Given the description of an element on the screen output the (x, y) to click on. 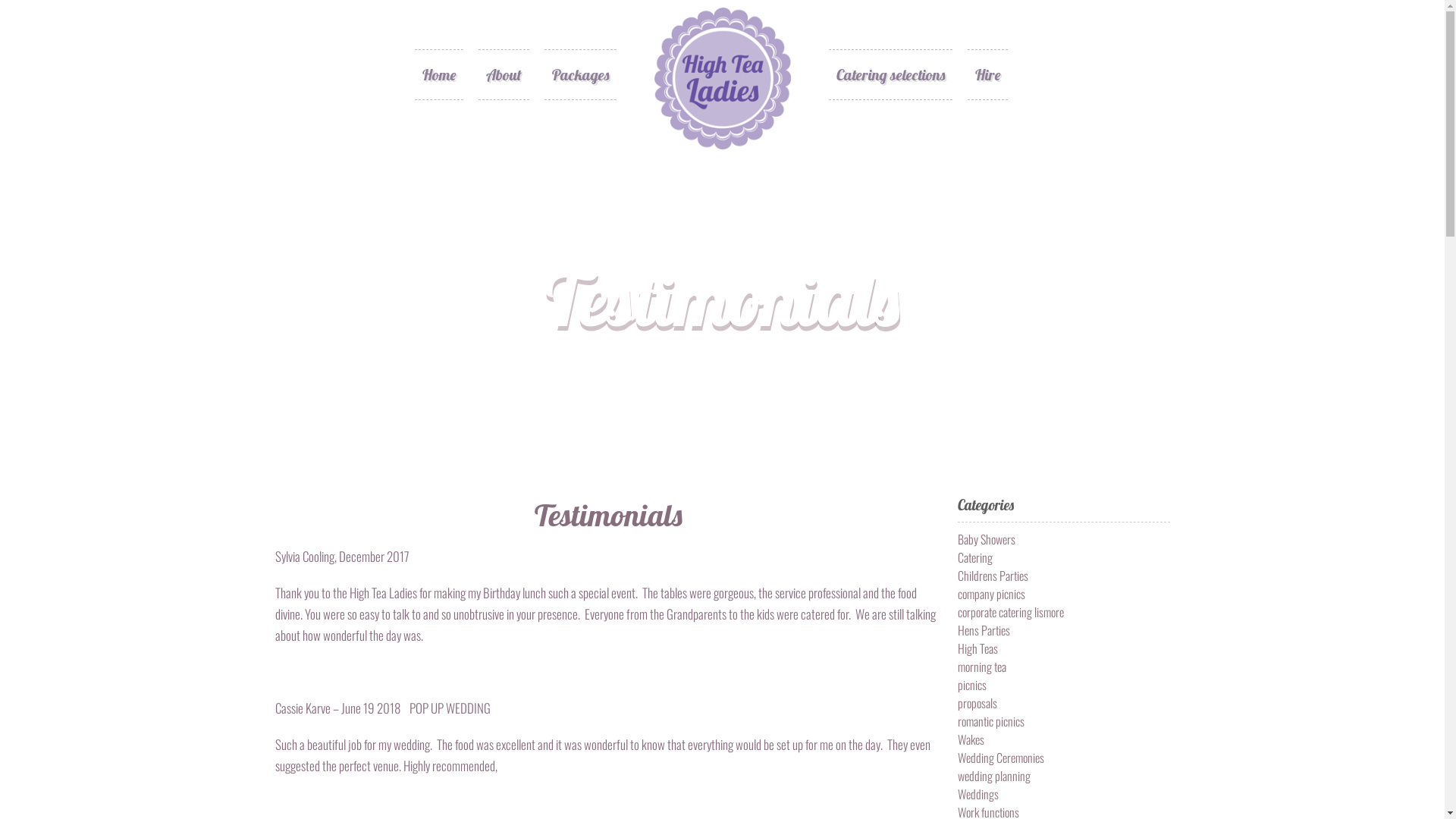
Baby Showers Element type: text (985, 539)
Hire Element type: text (987, 74)
corporate catering lismore Element type: text (1010, 611)
Home Element type: text (438, 74)
Packages Element type: text (580, 74)
proposals Element type: text (976, 702)
Childrens Parties Element type: text (992, 575)
Catering selections Element type: text (889, 74)
romantic picnics Element type: text (990, 721)
wedding planning Element type: text (993, 775)
company picnics Element type: text (990, 593)
picnics Element type: text (971, 684)
Wedding Ceremonies Element type: text (1000, 757)
Weddings Element type: text (977, 793)
Wakes Element type: text (970, 739)
Catering Element type: text (974, 557)
morning tea Element type: text (981, 666)
About Element type: text (502, 74)
High Teas Element type: text (977, 648)
Hens Parties Element type: text (983, 630)
